Given the description of an element on the screen output the (x, y) to click on. 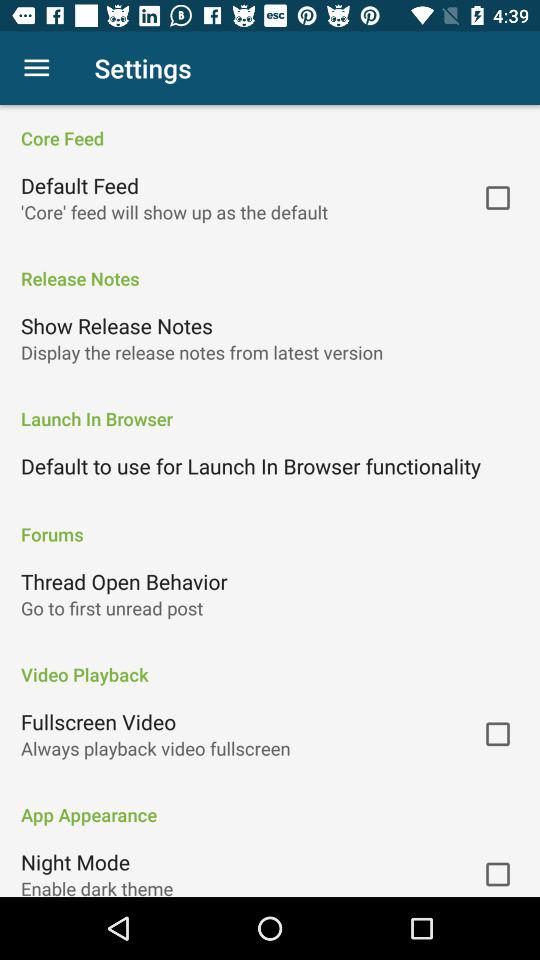
scroll until core feed will icon (174, 211)
